Given the description of an element on the screen output the (x, y) to click on. 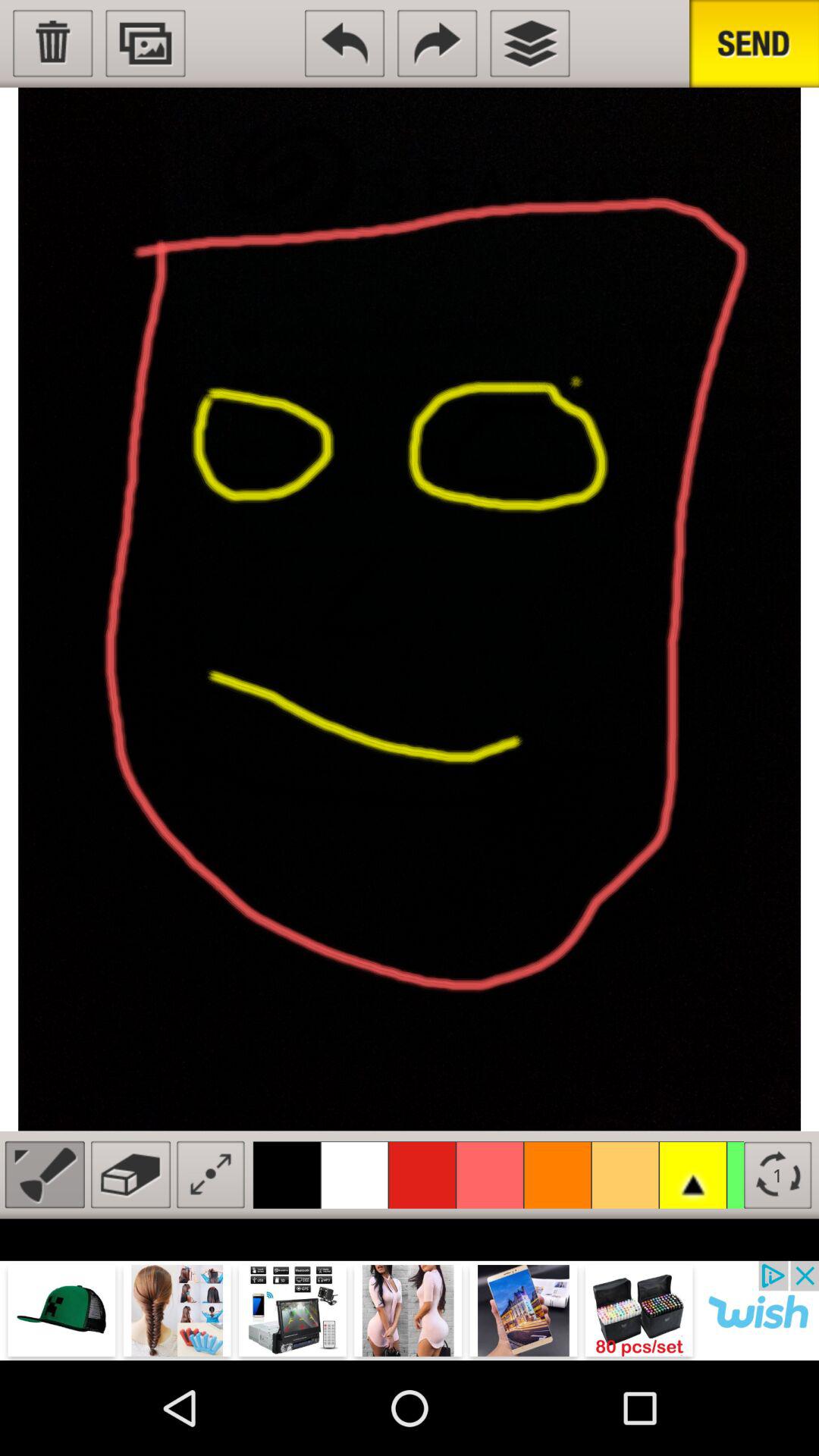
go back (344, 43)
